Given the description of an element on the screen output the (x, y) to click on. 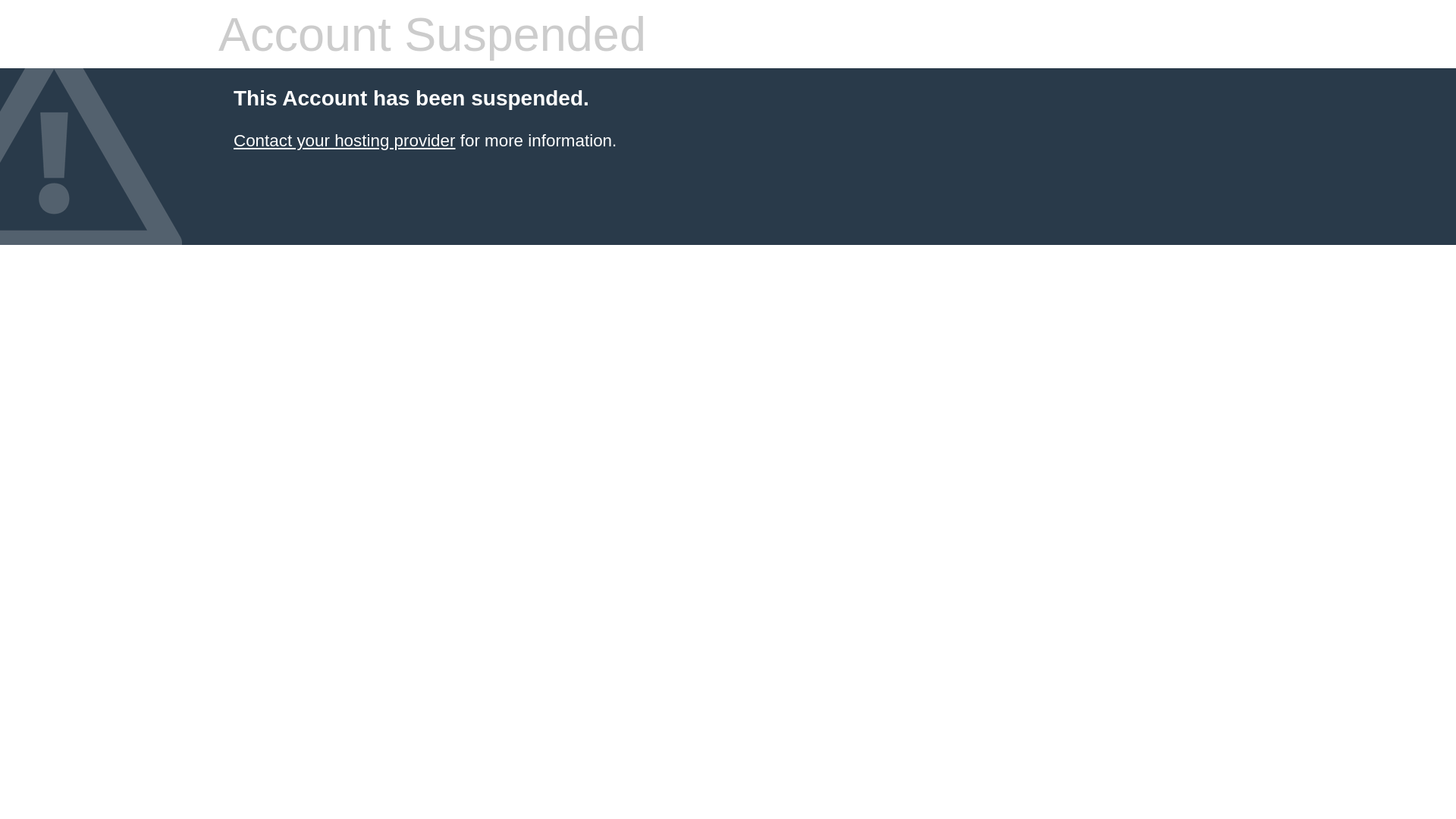
Contact your hosting provider Element type: text (344, 140)
